Given the description of an element on the screen output the (x, y) to click on. 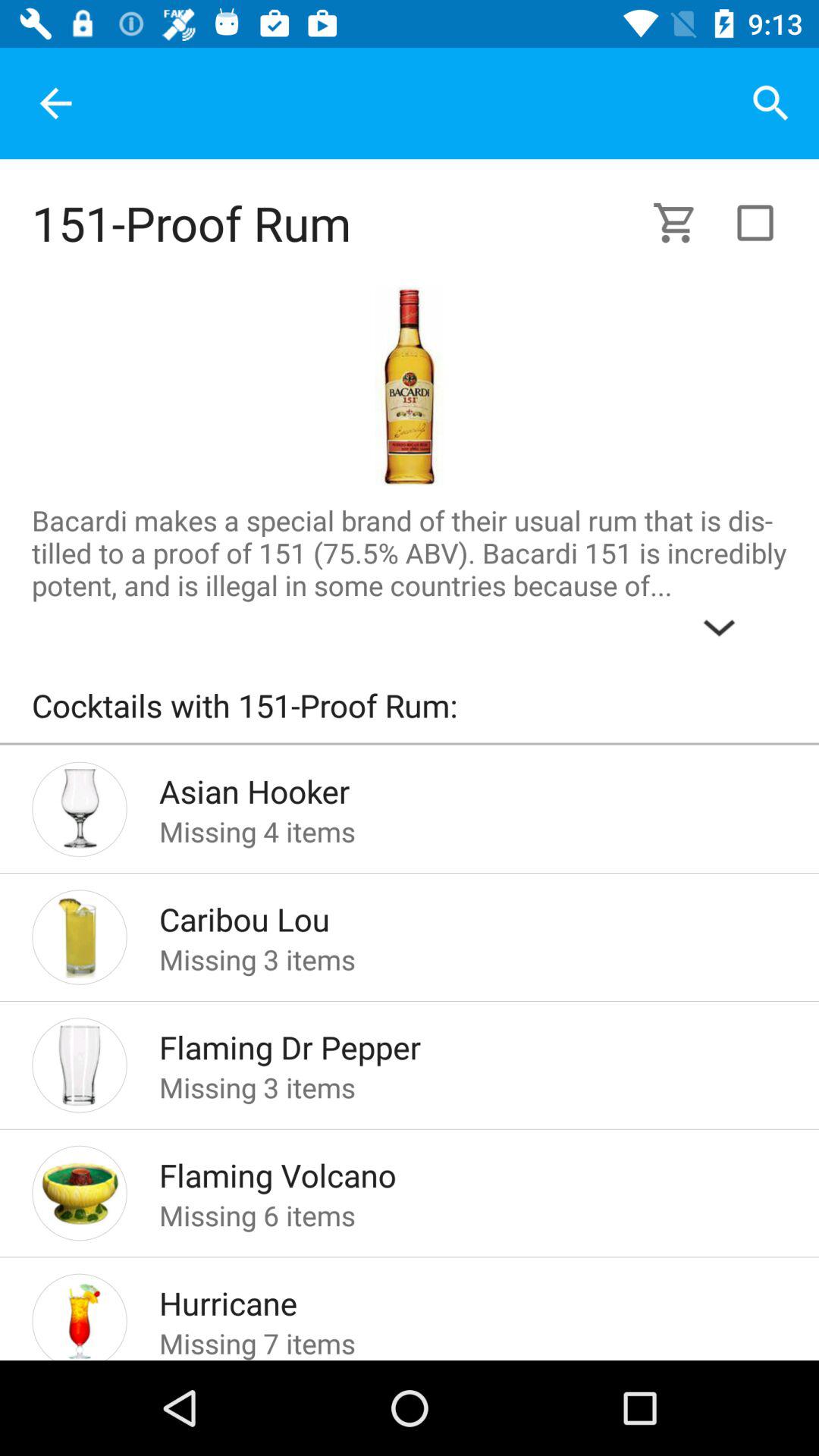
turn on icon above missing 7 items (449, 1298)
